Given the description of an element on the screen output the (x, y) to click on. 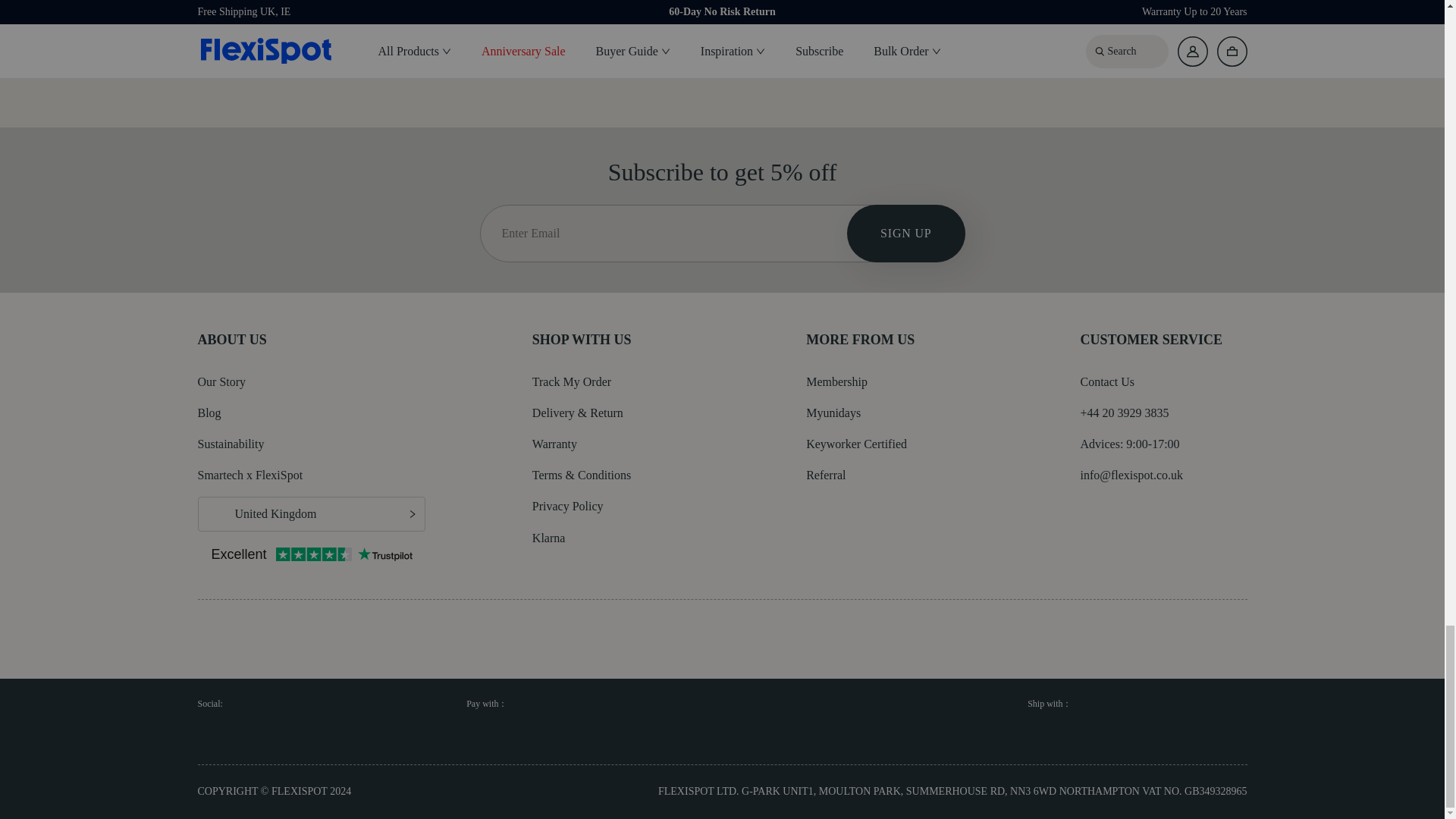
Customer reviews powered by Trustpilot (310, 556)
Myunidays (833, 412)
Our Story (221, 381)
Blog (208, 412)
Warranty (554, 443)
Track My Order (571, 381)
Privacy Policy (568, 505)
Keyworker Certified (856, 443)
Sustainability (229, 443)
Membership (836, 381)
